Given the description of an element on the screen output the (x, y) to click on. 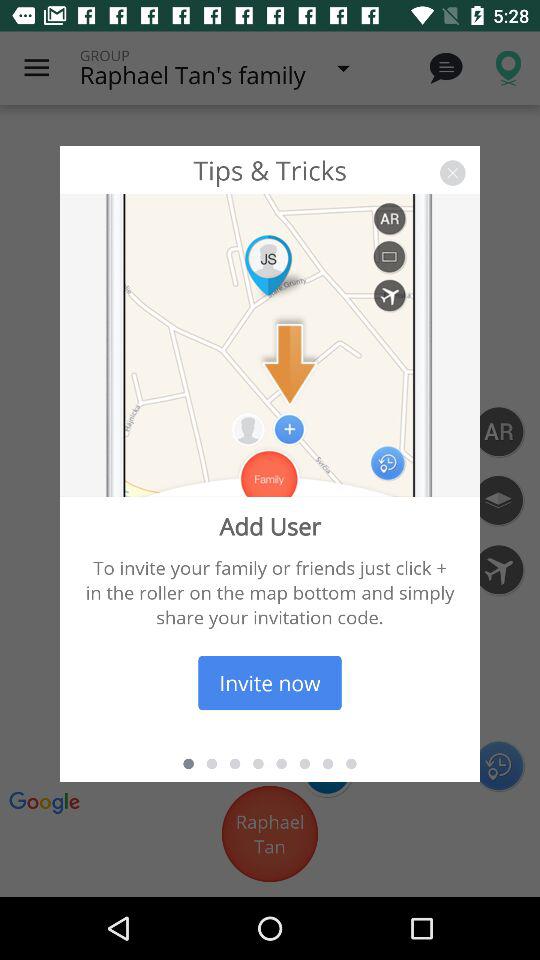
turn off icon below the to invite your item (269, 682)
